Given the description of an element on the screen output the (x, y) to click on. 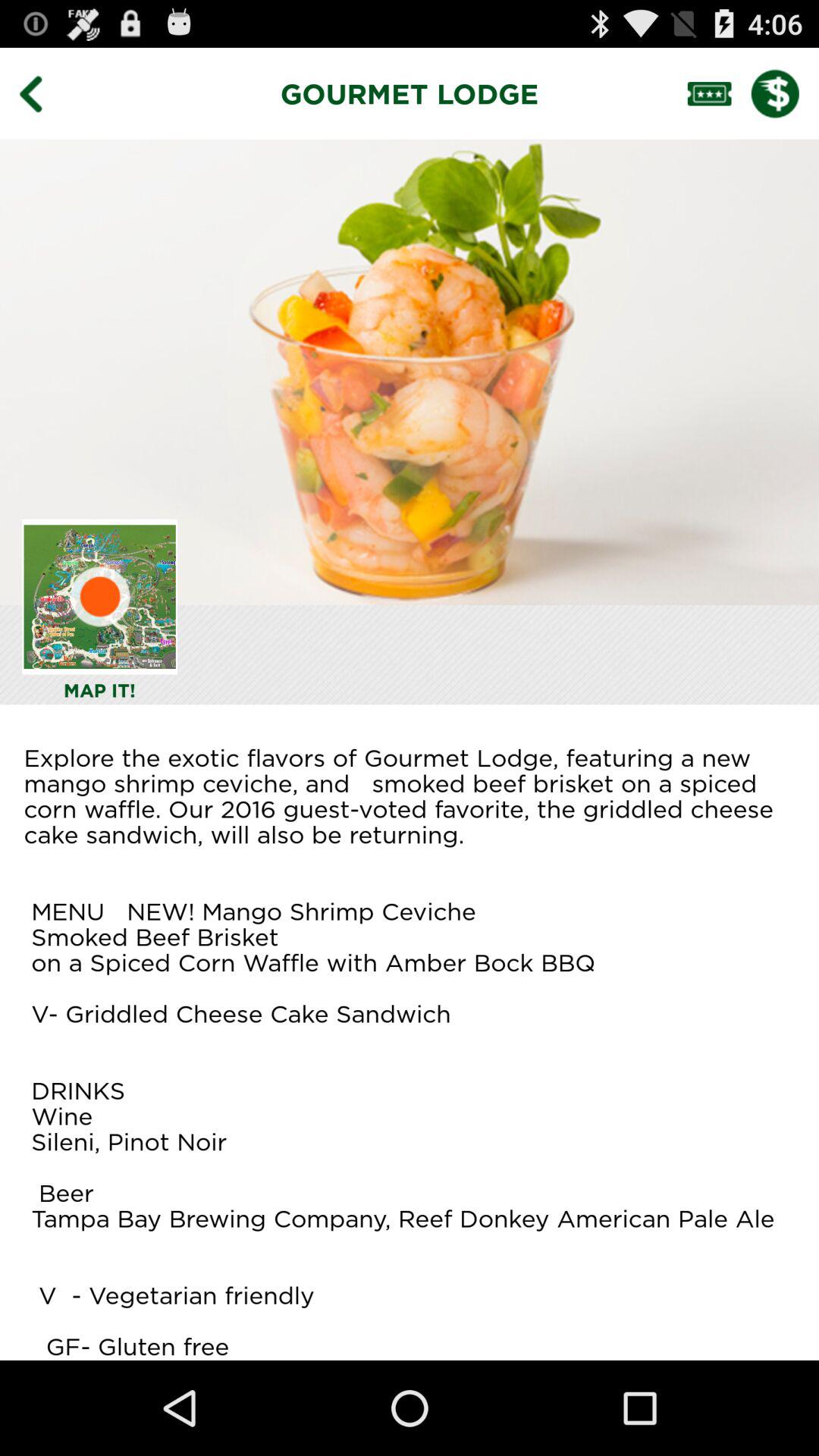
map button (99, 596)
